Given the description of an element on the screen output the (x, y) to click on. 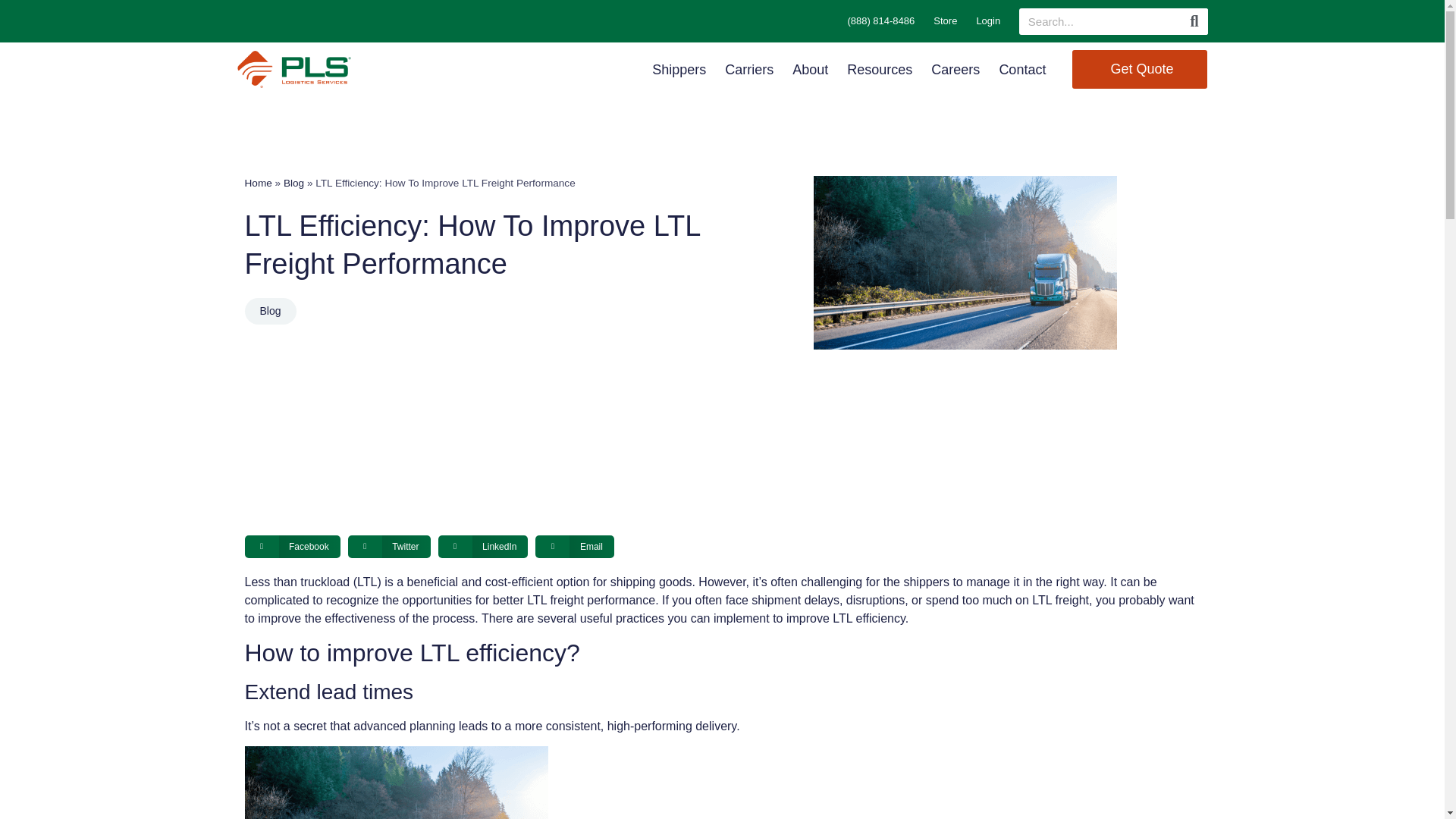
Resources (879, 68)
Contact (1021, 68)
Shippers (679, 68)
Careers (955, 68)
About (810, 68)
Carriers (749, 68)
